Given the description of an element on the screen output the (x, y) to click on. 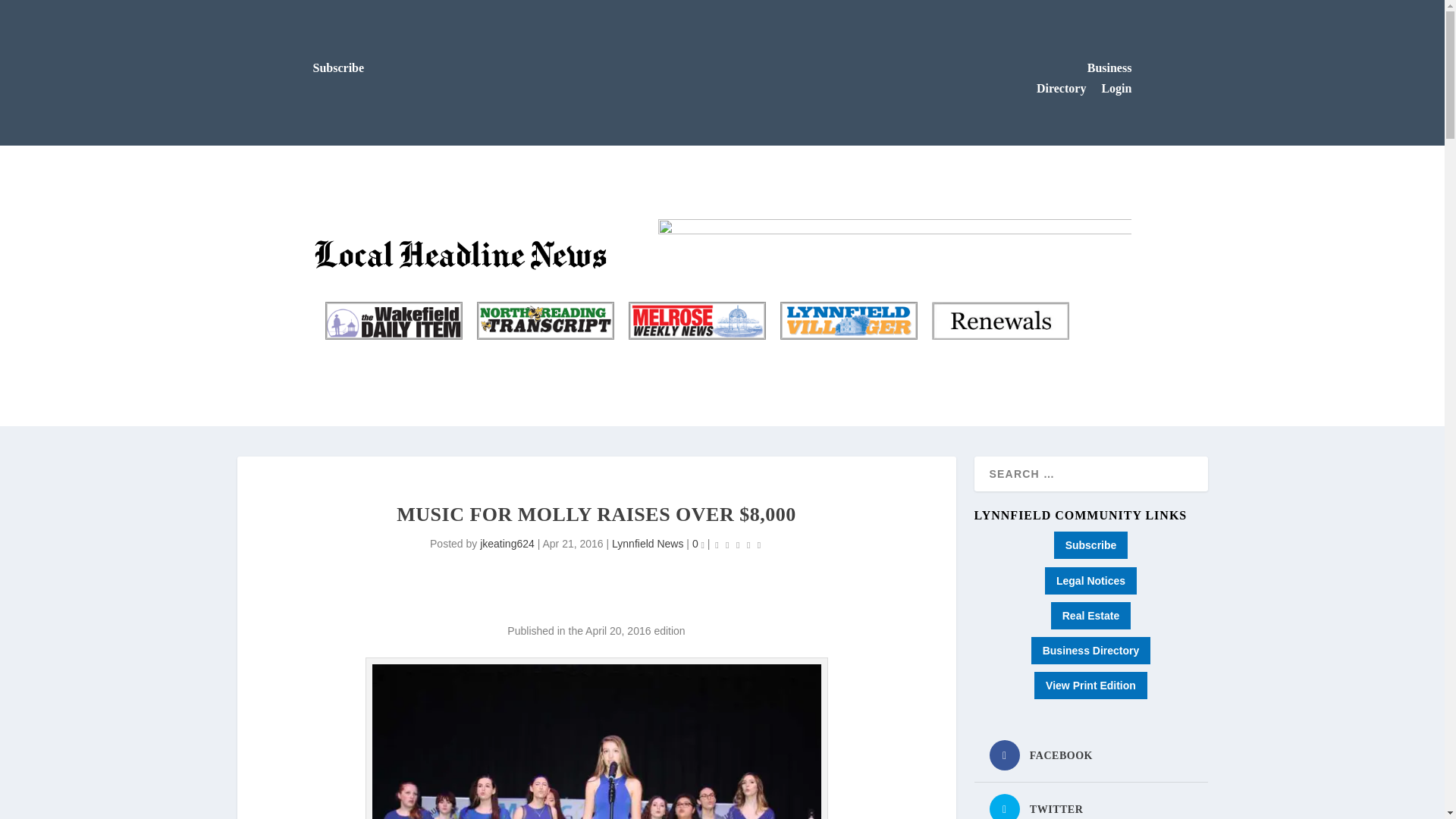
Melrose (696, 320)
jkeating624 (507, 543)
Lynnfield Villager (847, 320)
Login (1115, 88)
0 (698, 543)
Renewal (1000, 320)
Subscribe (338, 67)
Lynnfield News (646, 543)
Business Directory (1083, 78)
local-headline-news-logo (462, 253)
Lynnfield (847, 320)
North Reading Transcript (544, 320)
Melrose Weekly News (696, 320)
Wakefield (393, 320)
Rating: 0.00 (737, 544)
